Given the description of an element on the screen output the (x, y) to click on. 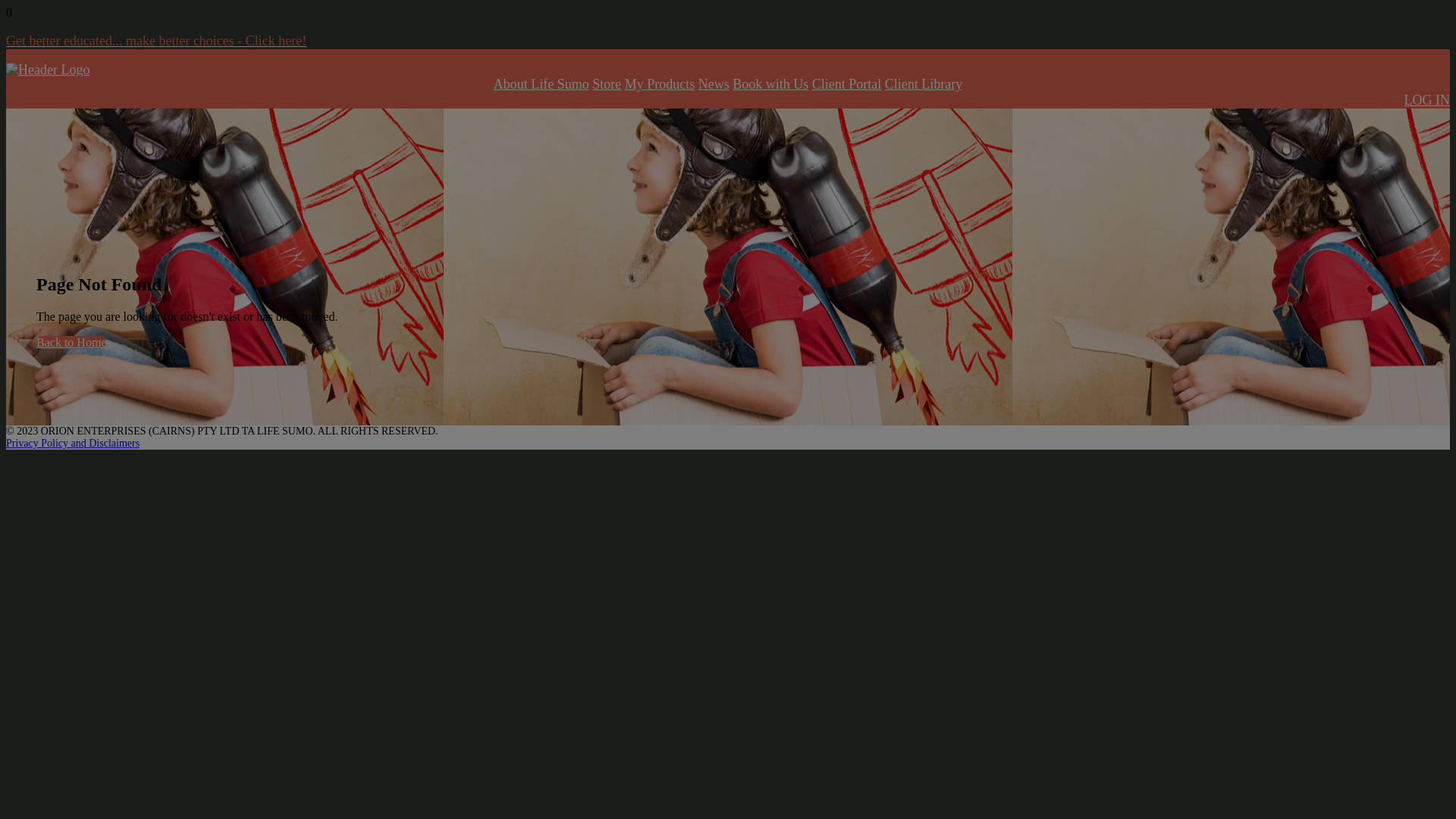
Store Element type: text (606, 83)
Book with Us Element type: text (770, 83)
Back to Home Element type: text (71, 341)
Privacy Policy and Disclaimers Element type: text (72, 442)
LOG IN Element type: text (1427, 99)
My Products Element type: text (659, 83)
News Element type: text (713, 83)
Client Portal Element type: text (846, 83)
About Life Sumo Element type: text (541, 83)
Get better educated... make better choices - Click here! Element type: text (727, 41)
Client Library Element type: text (923, 83)
